Given the description of an element on the screen output the (x, y) to click on. 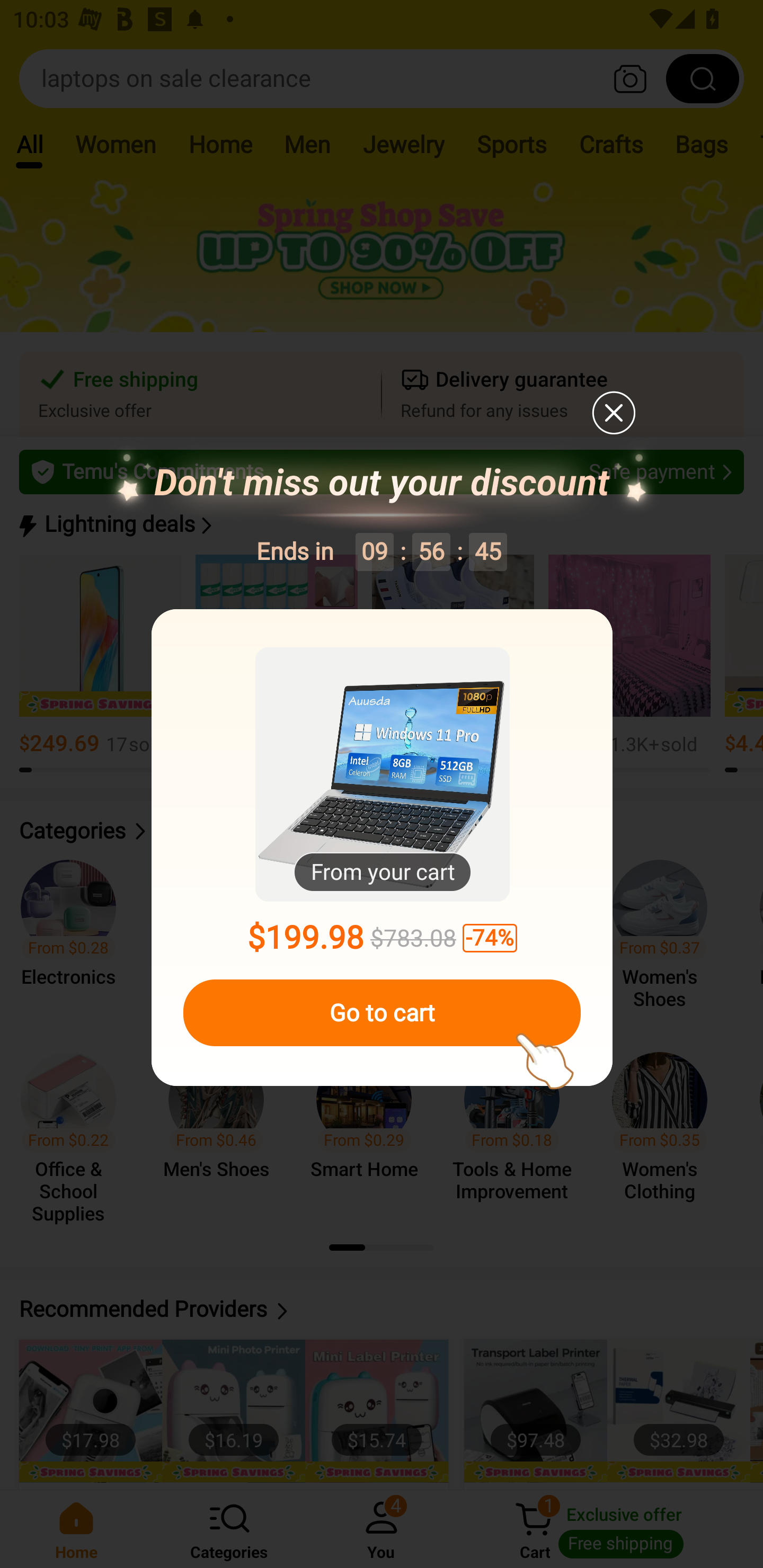
 (612, 412)
From your cart $199.98 $783.08 -74% Go to cart (381, 847)
Go to cart (381, 1012)
